Given the description of an element on the screen output the (x, y) to click on. 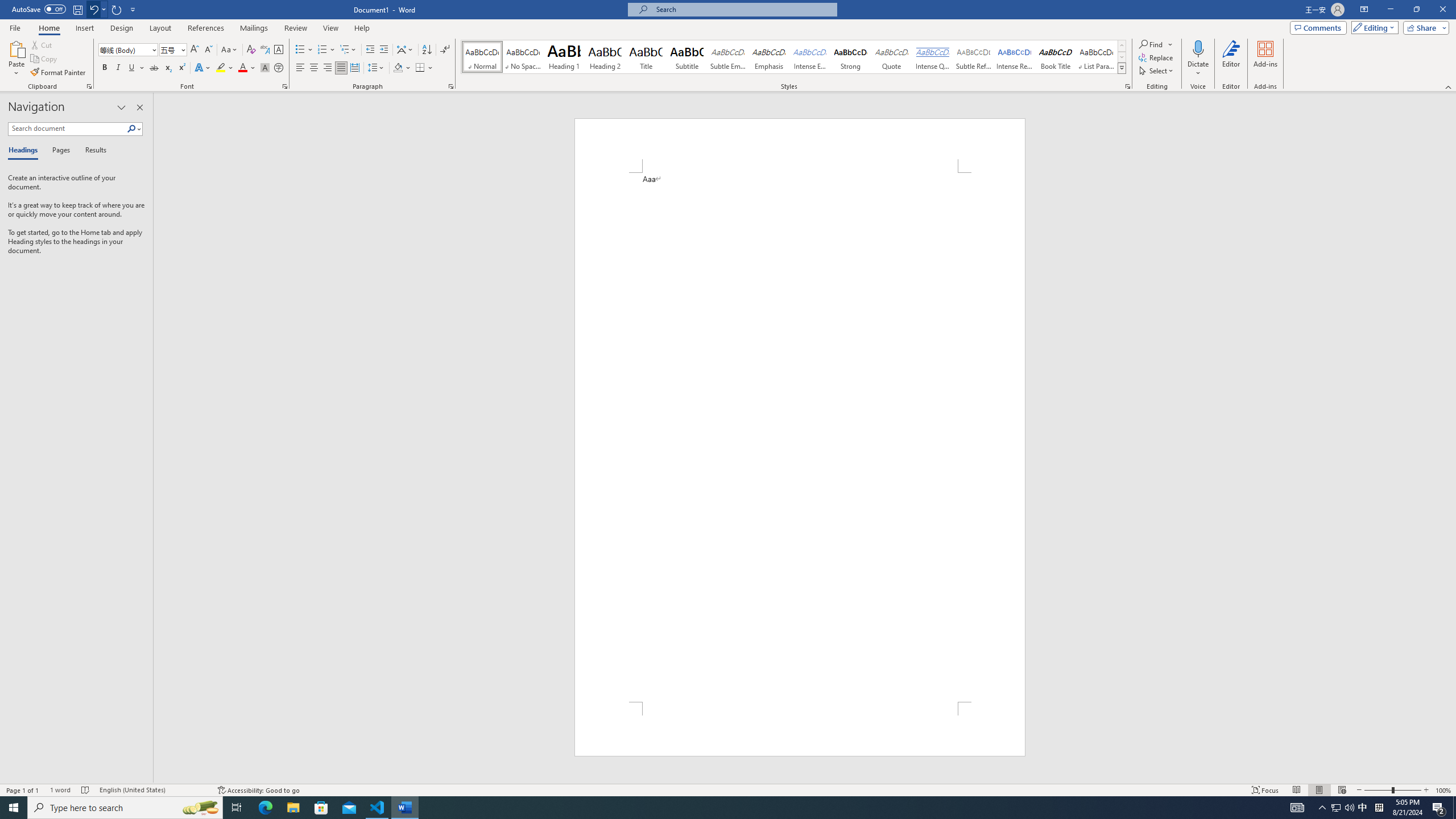
Font Color Red (241, 67)
